Given the description of an element on the screen output the (x, y) to click on. 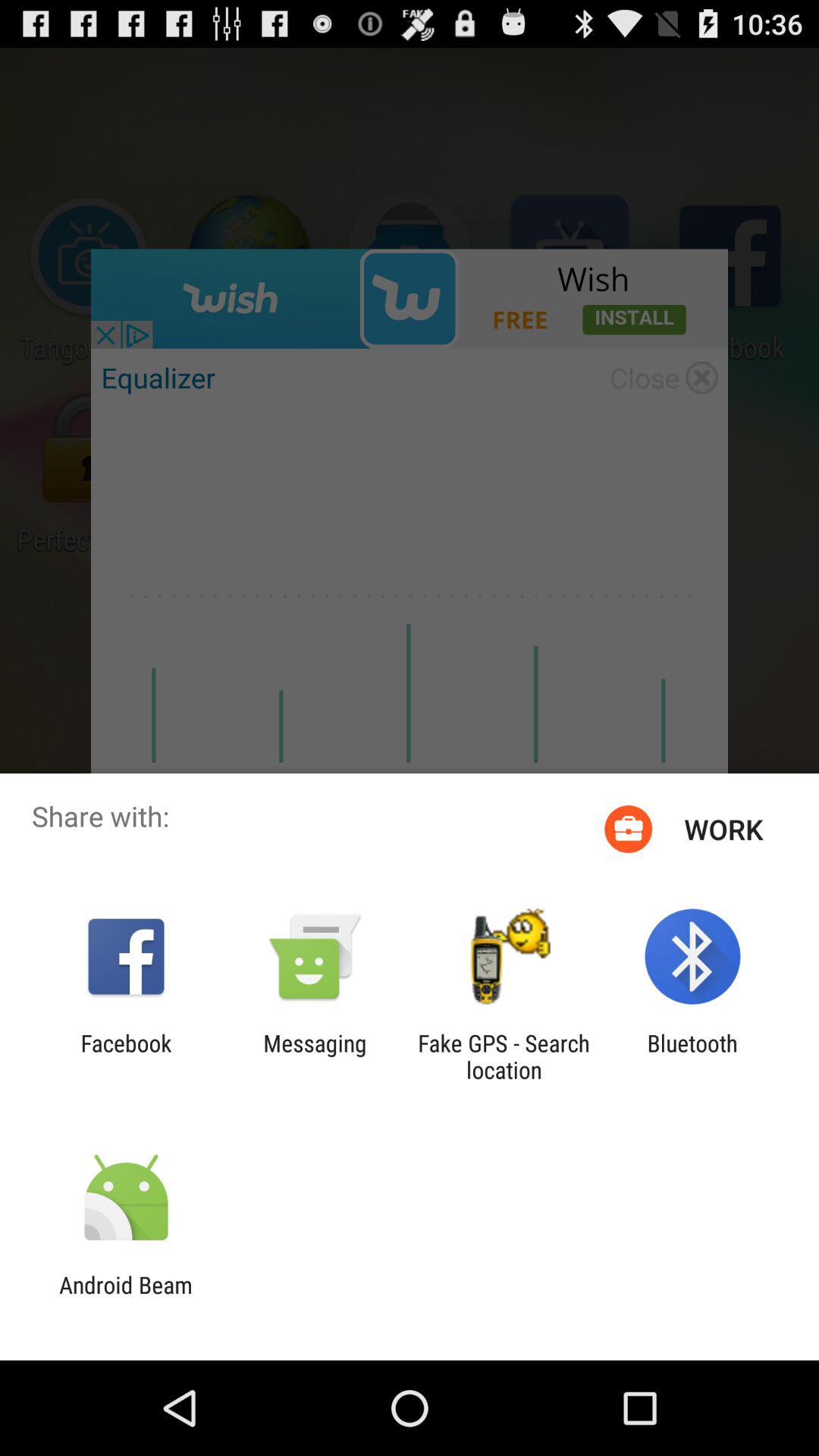
click the bluetooth icon (692, 1056)
